Given the description of an element on the screen output the (x, y) to click on. 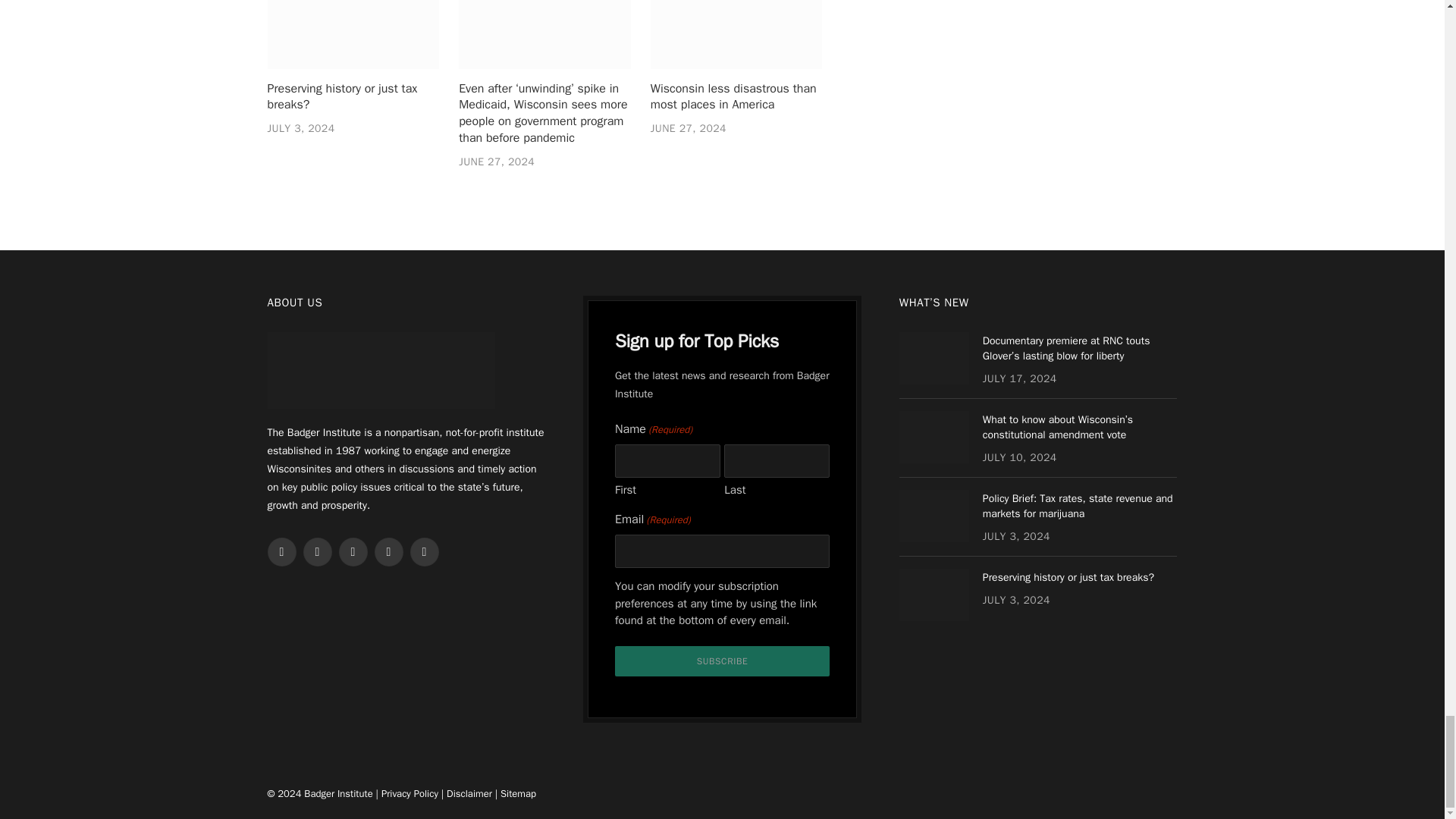
Subscribe (721, 661)
